Given the description of an element on the screen output the (x, y) to click on. 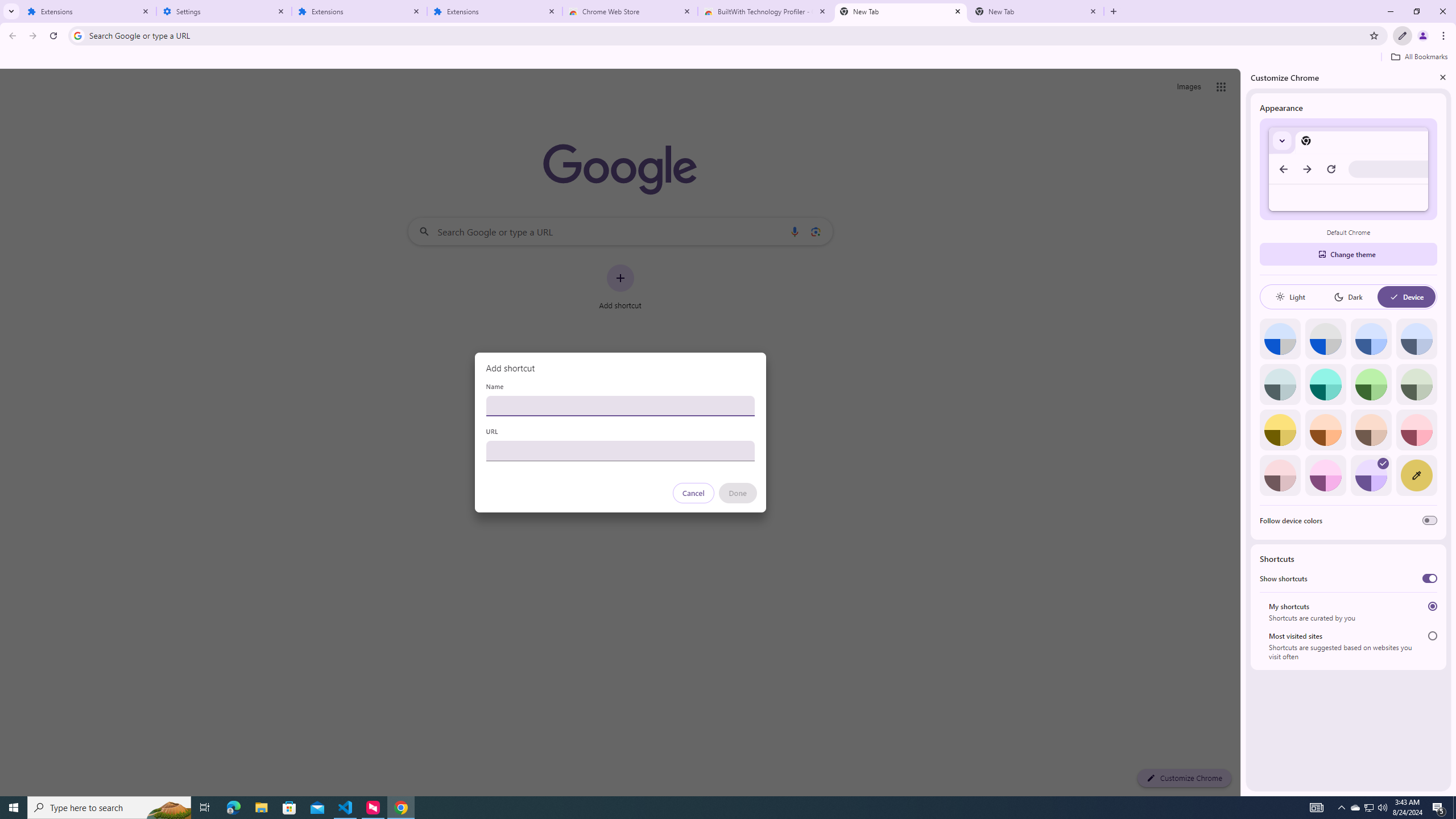
Change theme (1348, 254)
AutomationID: svg (1383, 463)
Grey (1279, 383)
Cool grey (1416, 338)
Cancel (693, 493)
Viridian (1416, 383)
Light (1289, 296)
New Tab (1036, 11)
Default color (1279, 338)
Rose (1416, 429)
Extensions (359, 11)
